Given the description of an element on the screen output the (x, y) to click on. 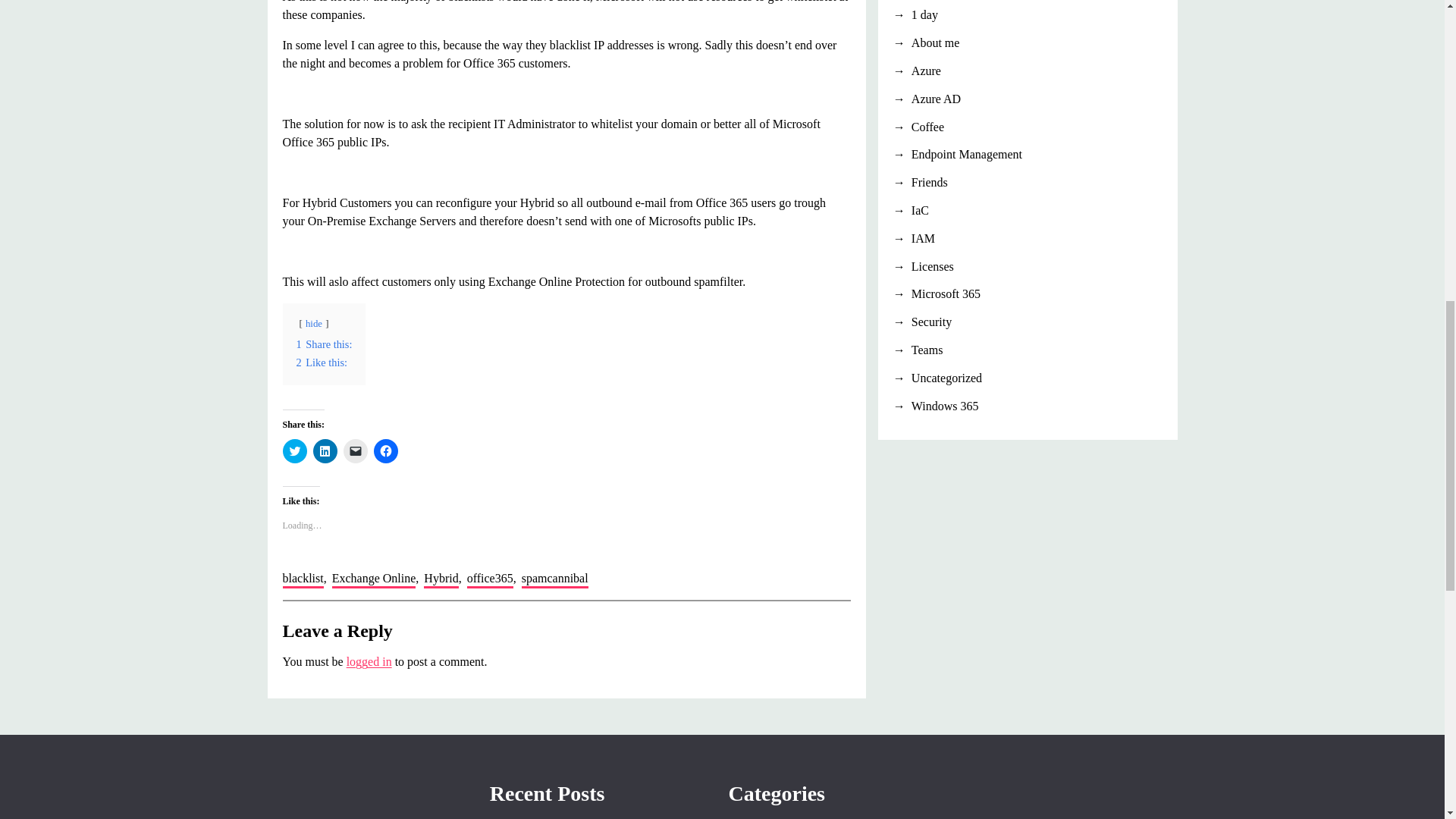
Click to share on LinkedIn (324, 450)
Click to share on Twitter (293, 450)
2 Like this: (321, 362)
Exchange Online (373, 579)
spamcannibal (554, 579)
hide (313, 323)
Azure AD (1027, 99)
Licenses (1027, 266)
IaC (1027, 210)
1 day (1027, 14)
